Given the description of an element on the screen output the (x, y) to click on. 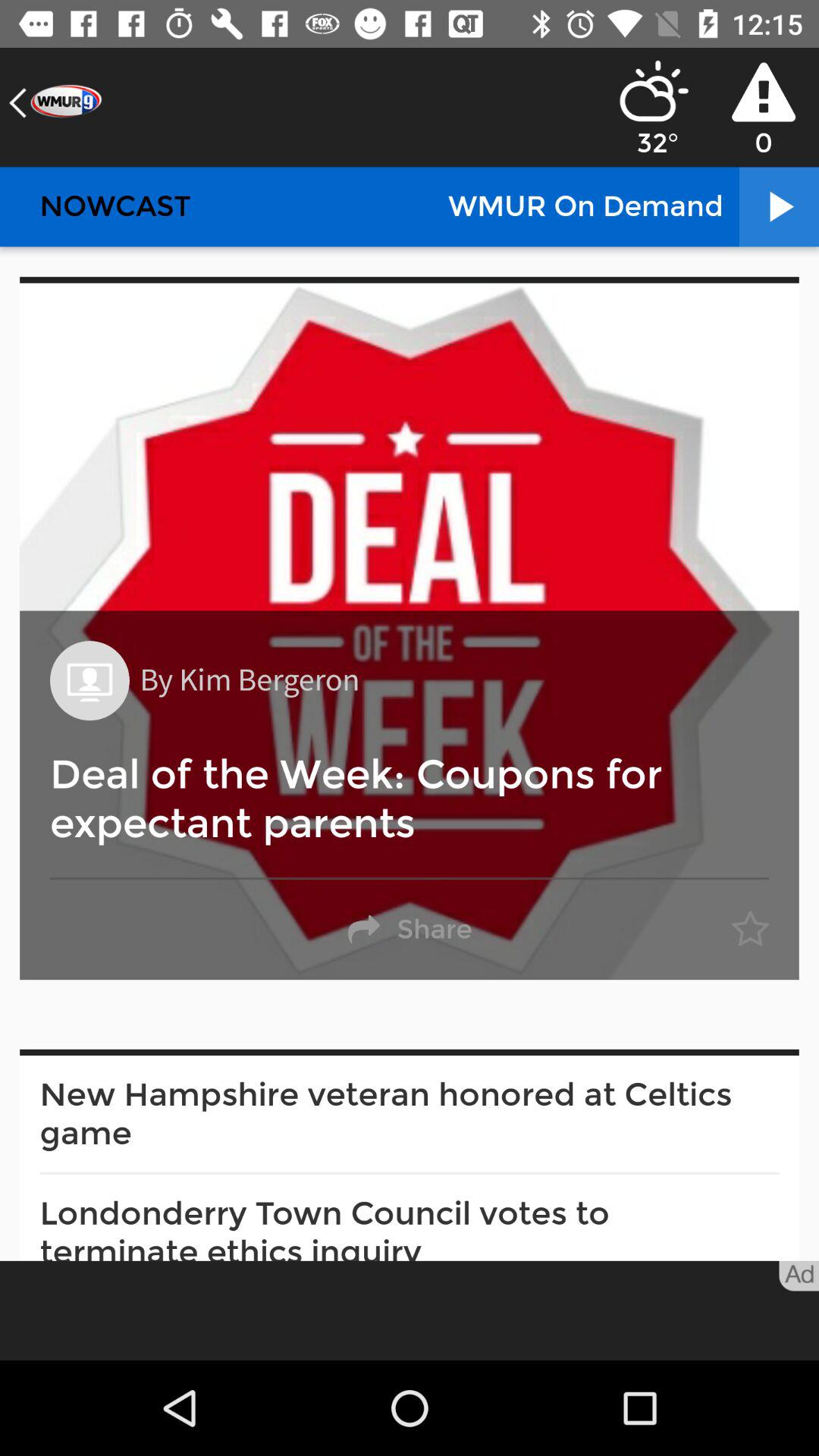
swipe until the by kim bergeron (249, 680)
